Given the description of an element on the screen output the (x, y) to click on. 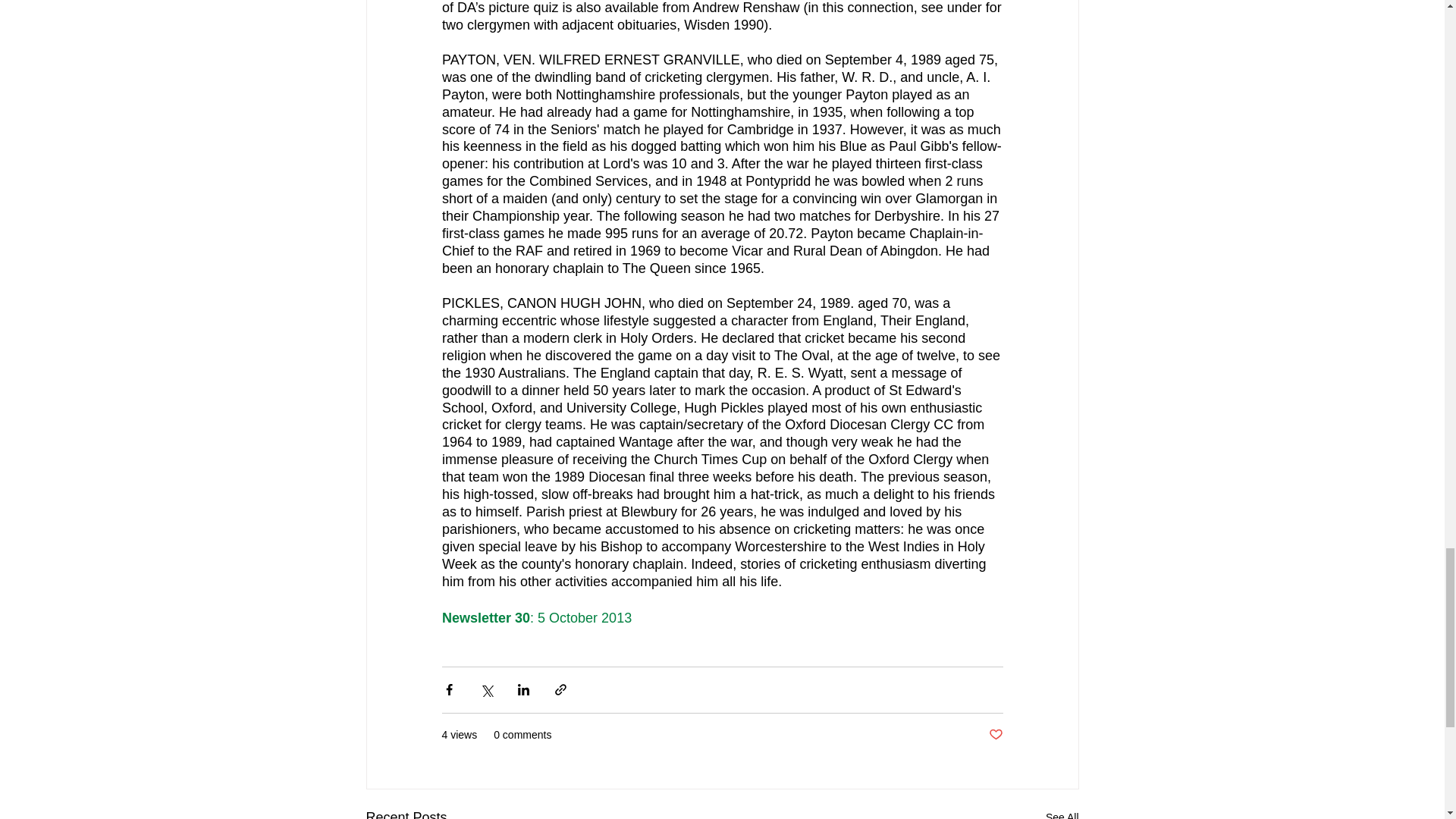
See All (1061, 812)
Post not marked as liked (995, 734)
